Given the description of an element on the screen output the (x, y) to click on. 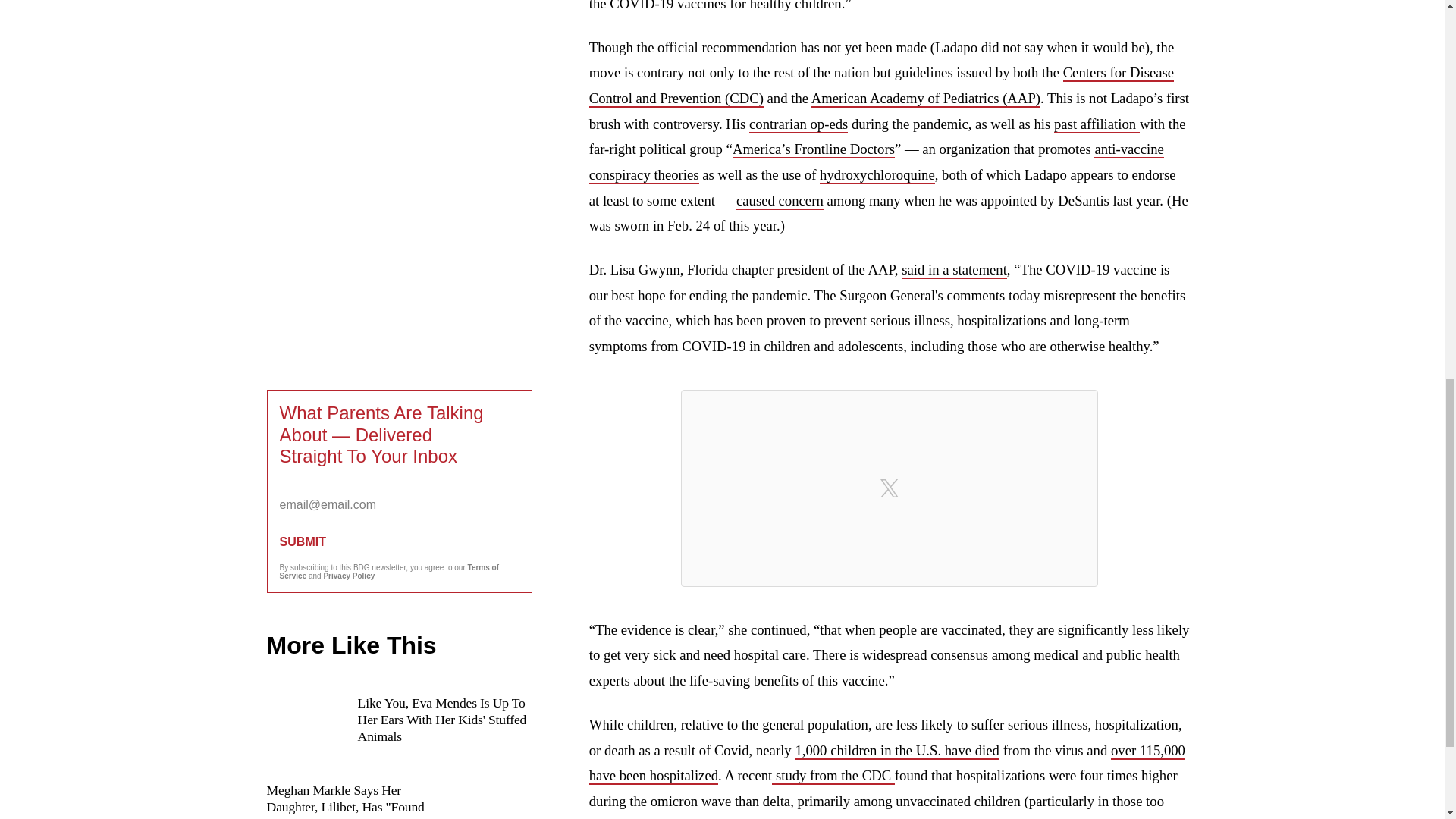
contrarian op-eds (798, 124)
past affiliation (1097, 124)
Privacy Policy (348, 575)
caused concern (780, 200)
Terms of Service (389, 571)
study from the CDC (833, 775)
SUBMIT (399, 541)
hydroxychloroquine (876, 175)
